Given the description of an element on the screen output the (x, y) to click on. 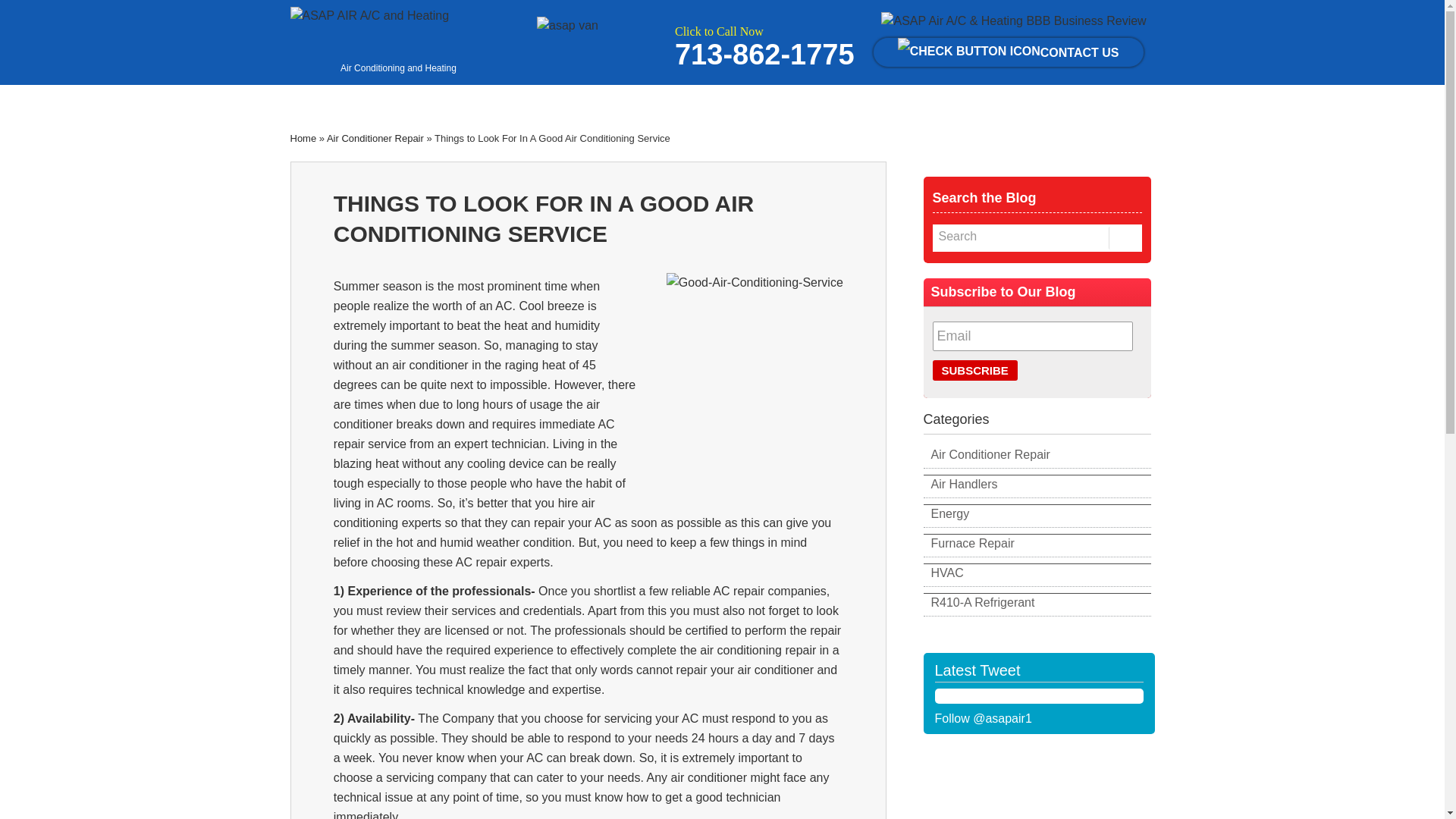
HOME (324, 99)
ABOUT US (408, 99)
Email (1033, 336)
713-862-1775 (764, 62)
Subscribe (975, 370)
Search (1015, 236)
PRODUCTS (599, 99)
SERVICES (503, 99)
Go to Asapair. (302, 138)
CONTACT US (1008, 51)
